Given the description of an element on the screen output the (x, y) to click on. 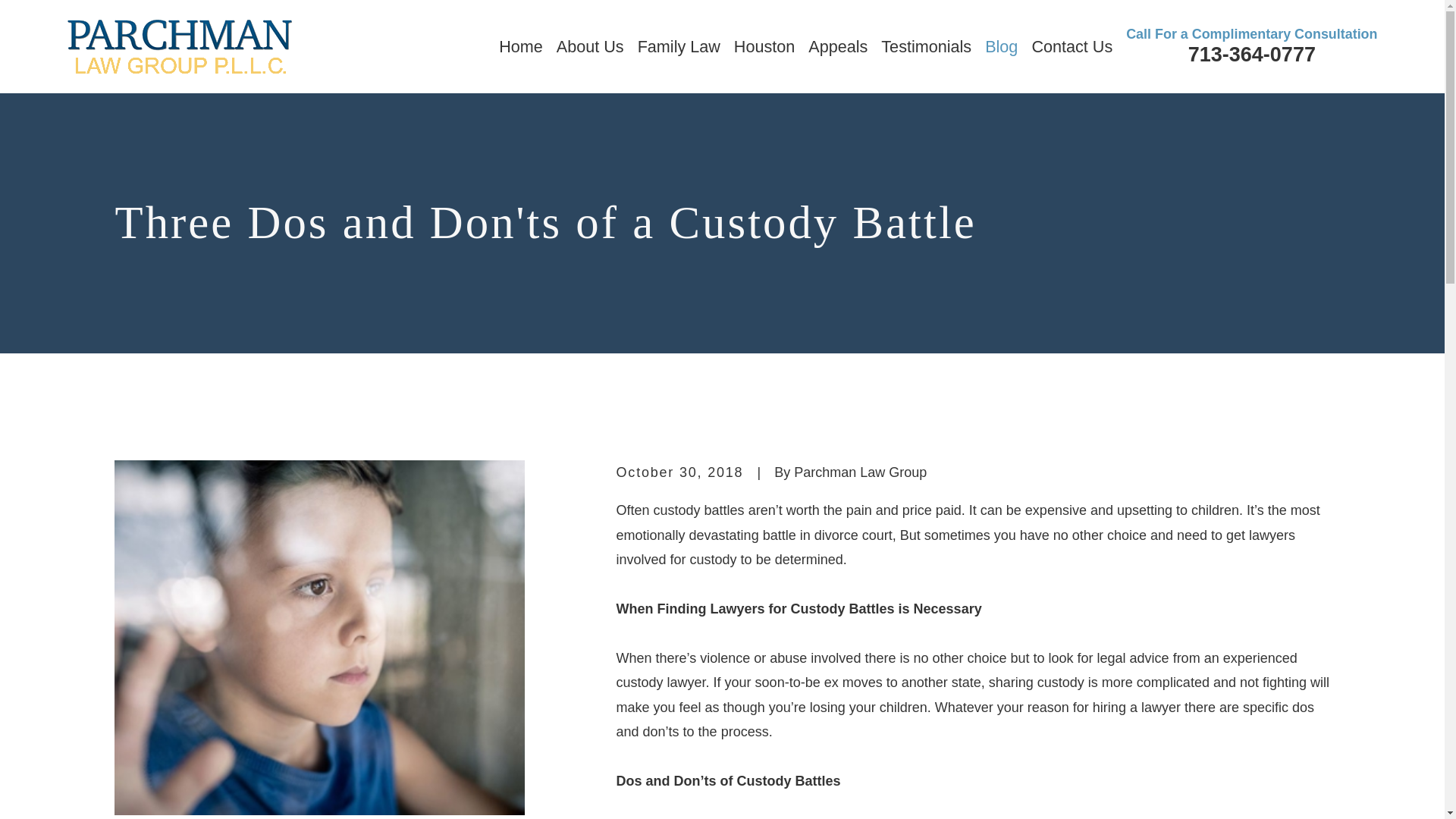
Home (179, 46)
About Us (590, 47)
Family Law (678, 47)
Houston (763, 47)
Appeals (837, 47)
Testimonials (925, 47)
